Given the description of an element on the screen output the (x, y) to click on. 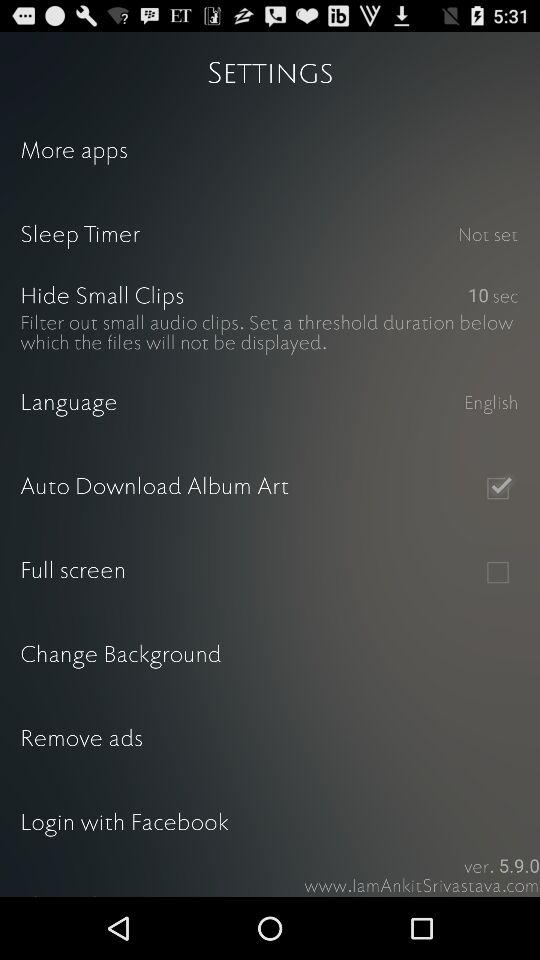
swipe until share the app (270, 881)
